Given the description of an element on the screen output the (x, y) to click on. 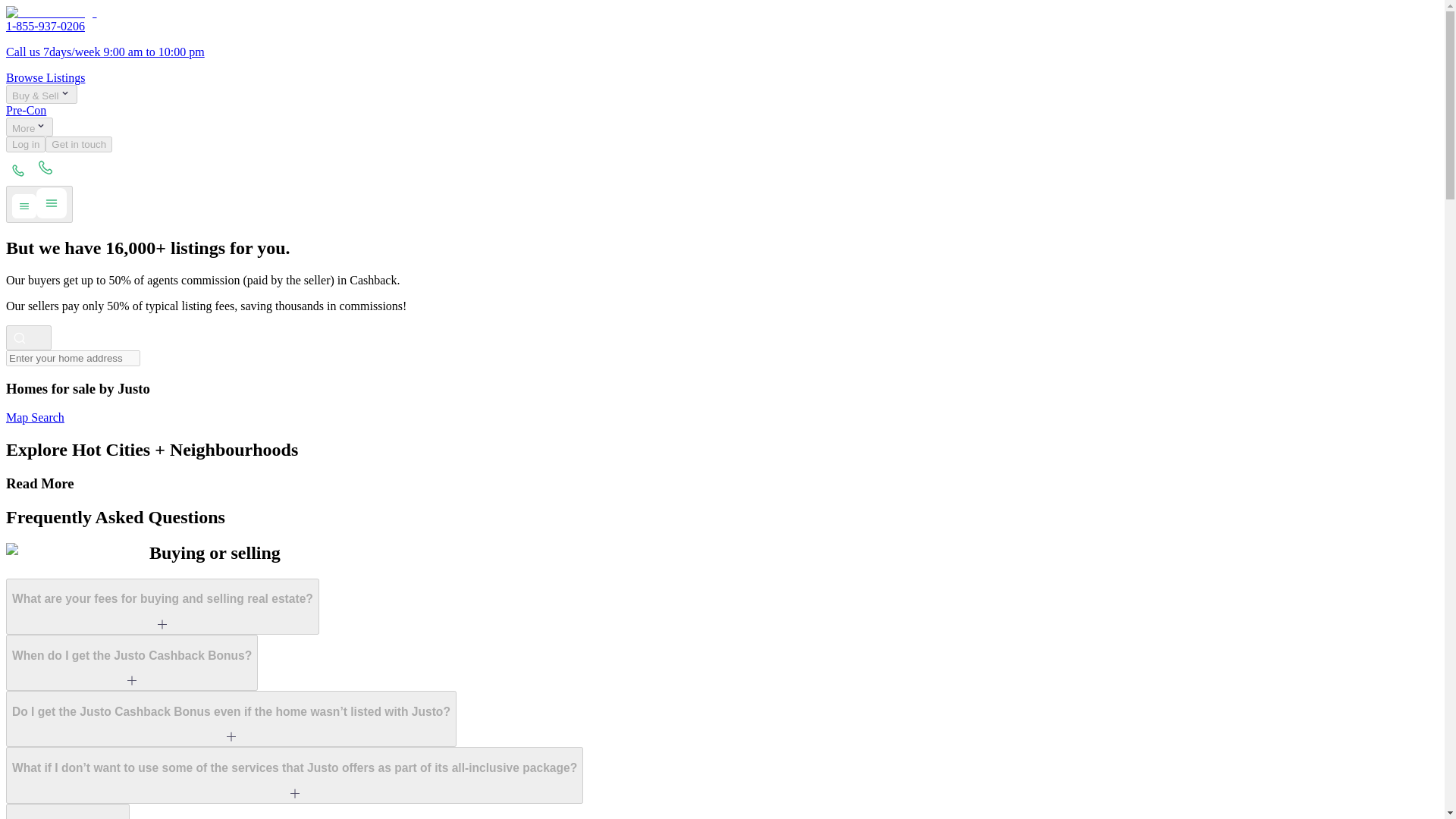
Get in touch (78, 144)
More (28, 126)
What are your fees for buying and selling real estate? (161, 606)
Why choose Justo? (67, 811)
Browse Listings (44, 77)
Map Search (34, 417)
When do I get the Justo Cashback Bonus? (131, 662)
Log in (25, 144)
Pre-Con (25, 110)
